Given the description of an element on the screen output the (x, y) to click on. 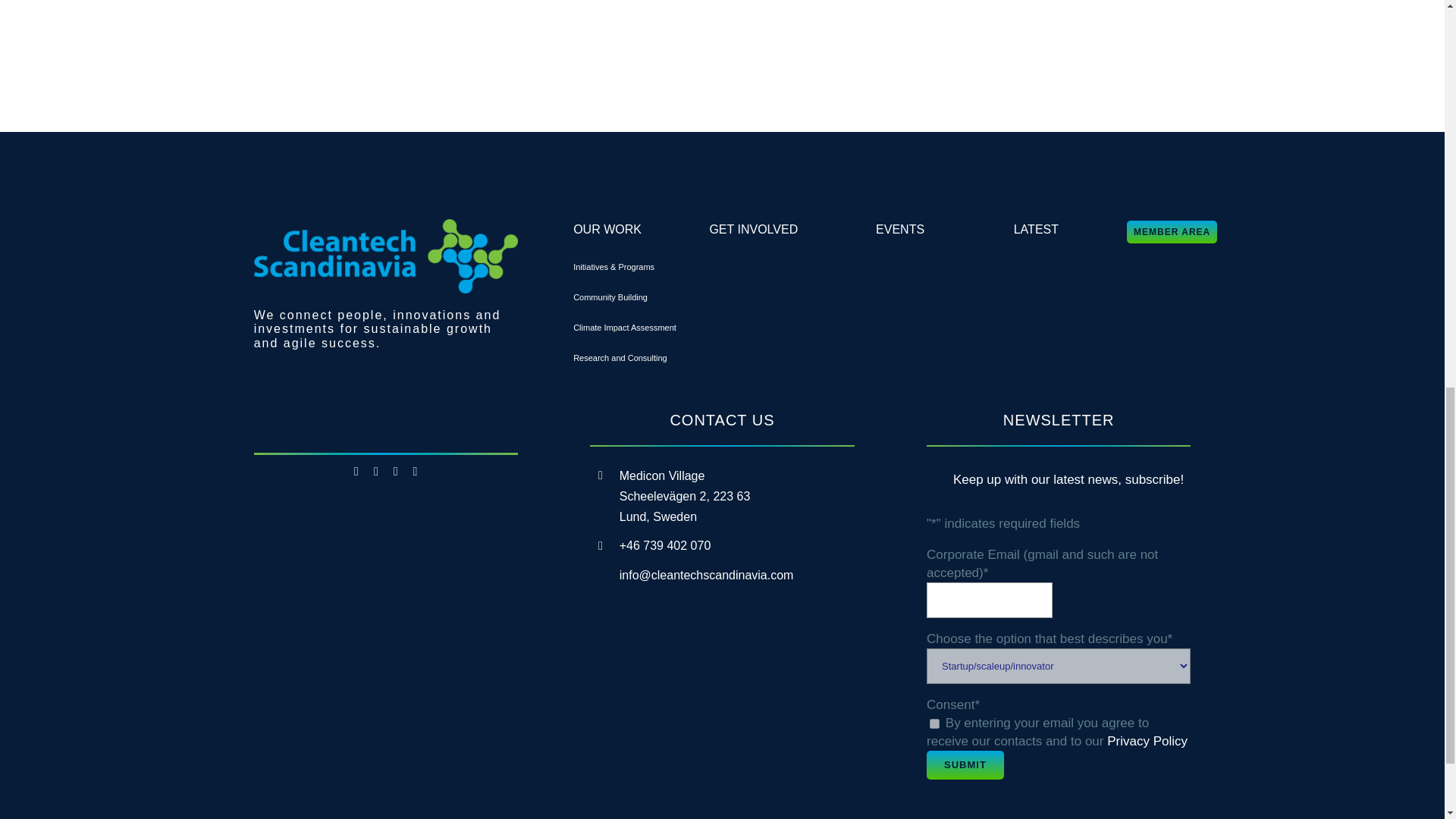
Community Building (610, 297)
Privacy Policy (1147, 740)
1 (934, 723)
MEMBER AREA (1171, 231)
Climate Impact Assessment (625, 327)
Submit (965, 765)
GET INVOLVED (753, 228)
Submit (965, 765)
Research and Consulting (619, 357)
